Given the description of an element on the screen output the (x, y) to click on. 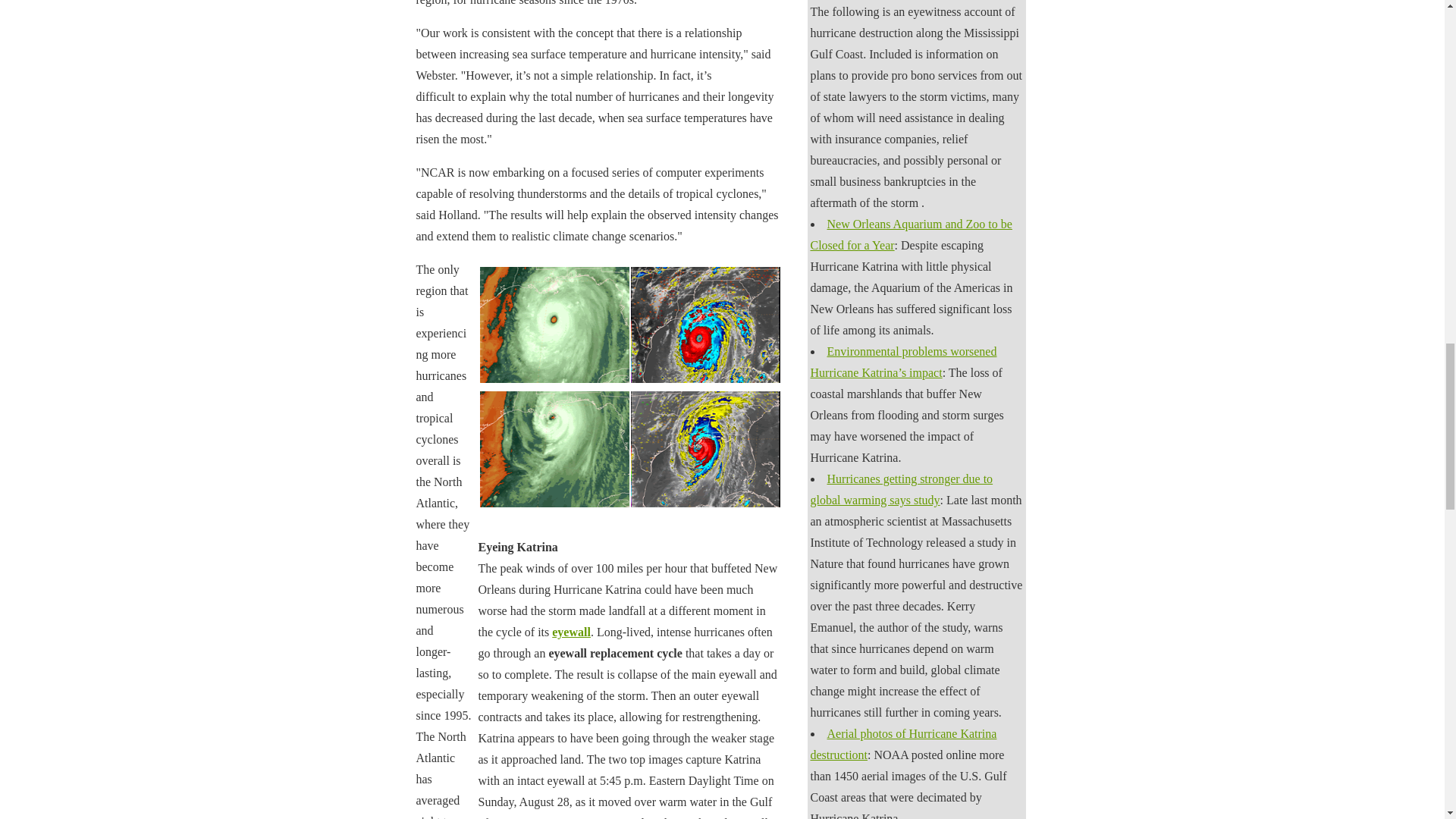
Aerial photos of Hurricane Katrina destructiont (902, 744)
Hurricanes getting stronger due to global warming says study (900, 489)
New Orleans Aquarium and Zoo to be Closed for a Year (910, 234)
eyewall (571, 631)
